Given the description of an element on the screen output the (x, y) to click on. 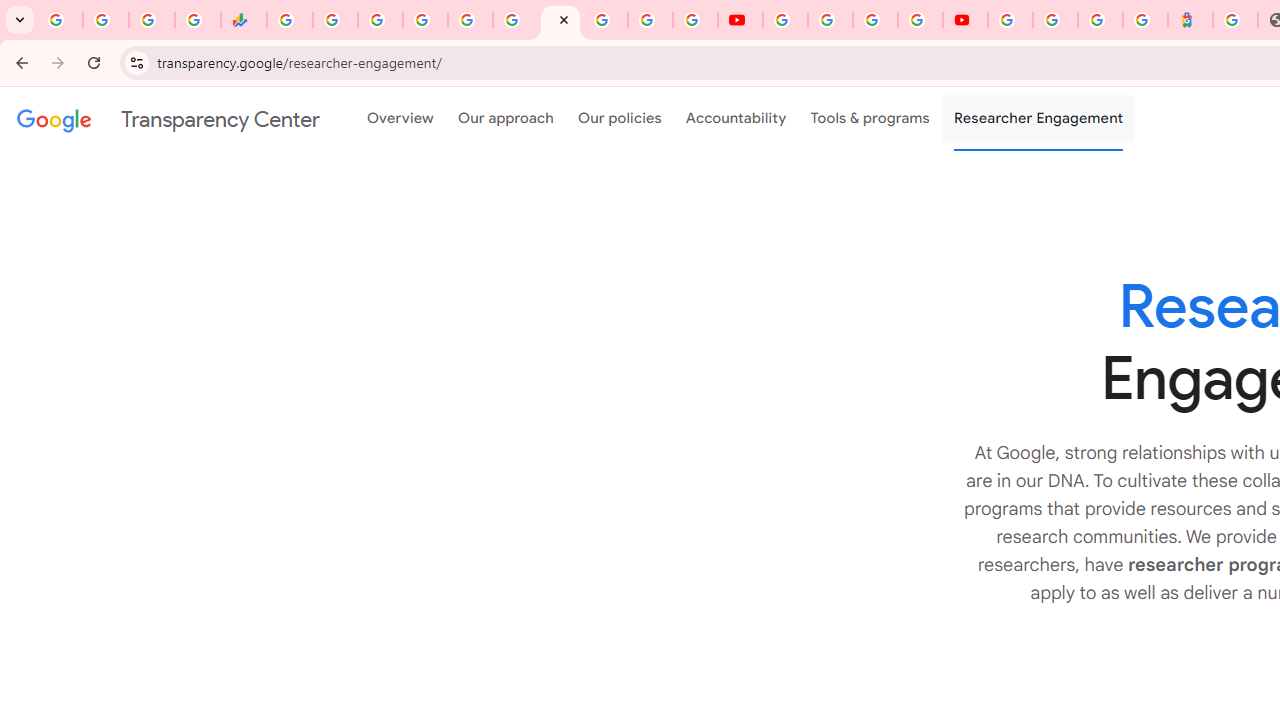
Privacy Checkup (695, 20)
Sign in - Google Accounts (1055, 20)
Content Creator Programs & Opportunities - YouTube Creators (965, 20)
YouTube (784, 20)
Google Account Help (829, 20)
Create your Google Account (875, 20)
Google Workspace Admin Community (60, 20)
